Given the description of an element on the screen output the (x, y) to click on. 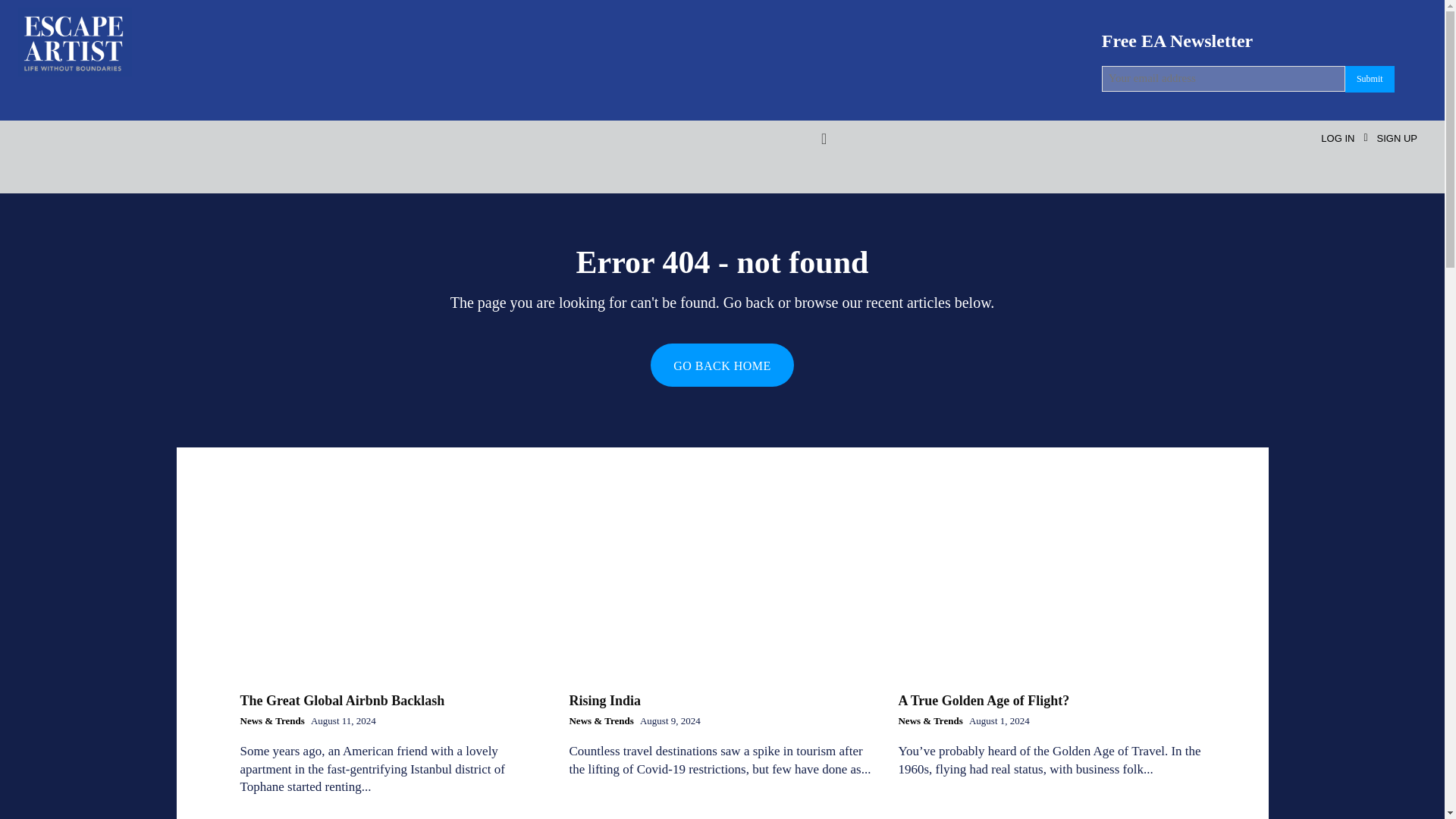
Rising India (604, 700)
Go back home (721, 364)
Rising India (722, 587)
The Great Global Airbnb Backlash  (343, 700)
SIGN UP (1397, 138)
GO BACK HOME (721, 364)
Submit (1369, 79)
Submit (1369, 79)
A True Golden Age of Flight? (1051, 587)
